Given the description of an element on the screen output the (x, y) to click on. 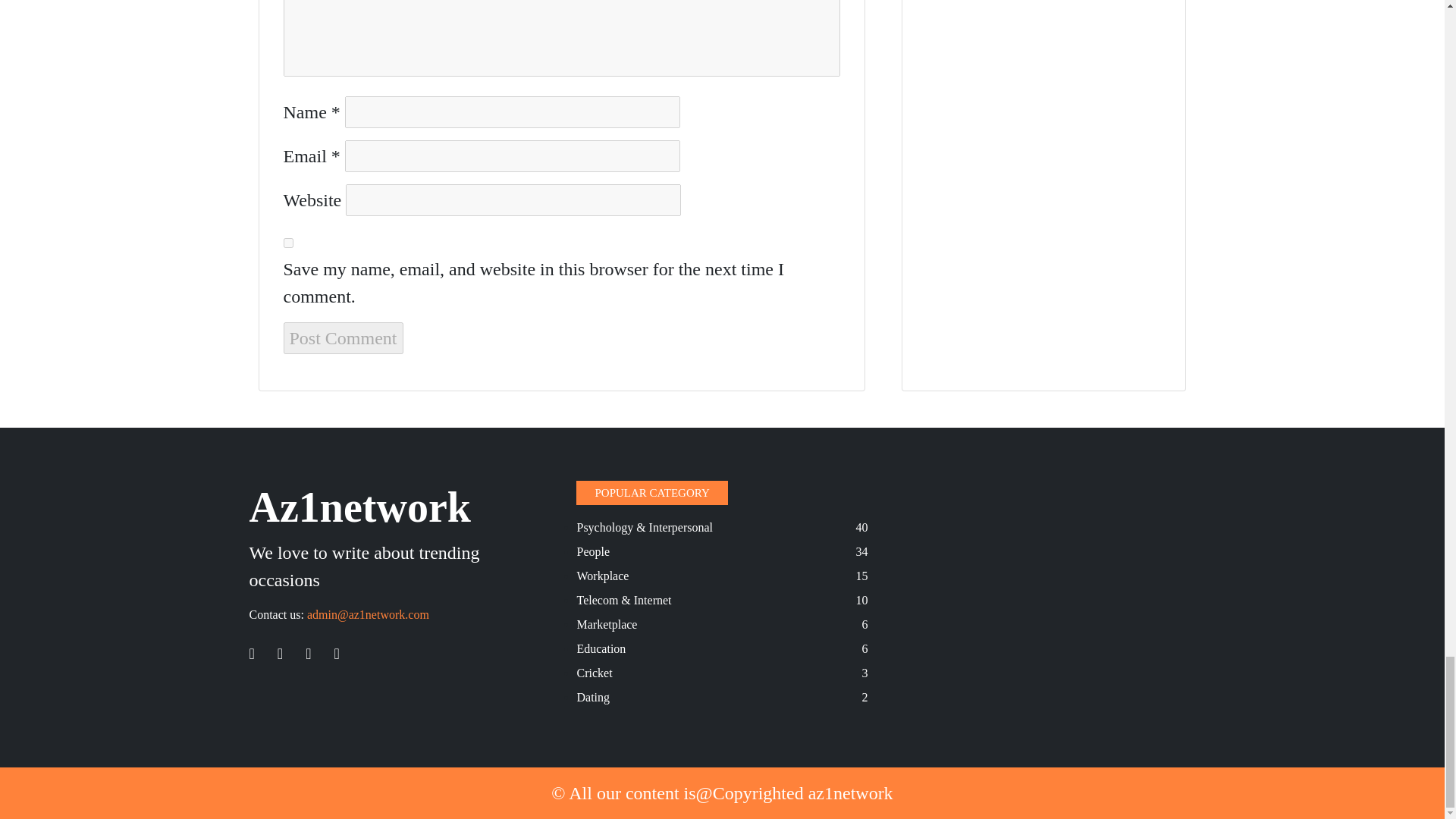
yes (288, 243)
Post Comment (343, 337)
Post Comment (343, 337)
